Given the description of an element on the screen output the (x, y) to click on. 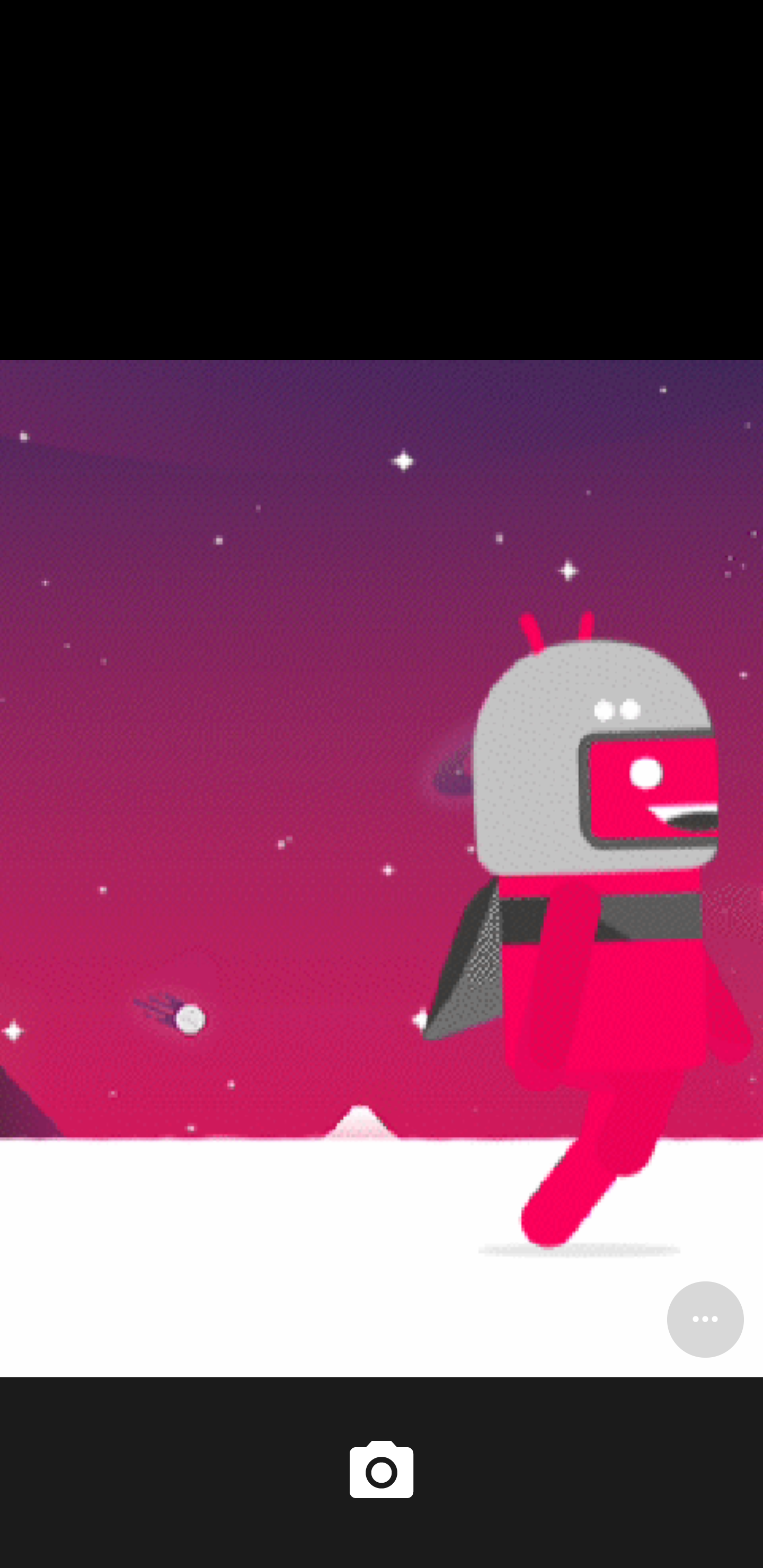
Options (704, 1319)
Shutter (381, 1472)
